Given the description of an element on the screen output the (x, y) to click on. 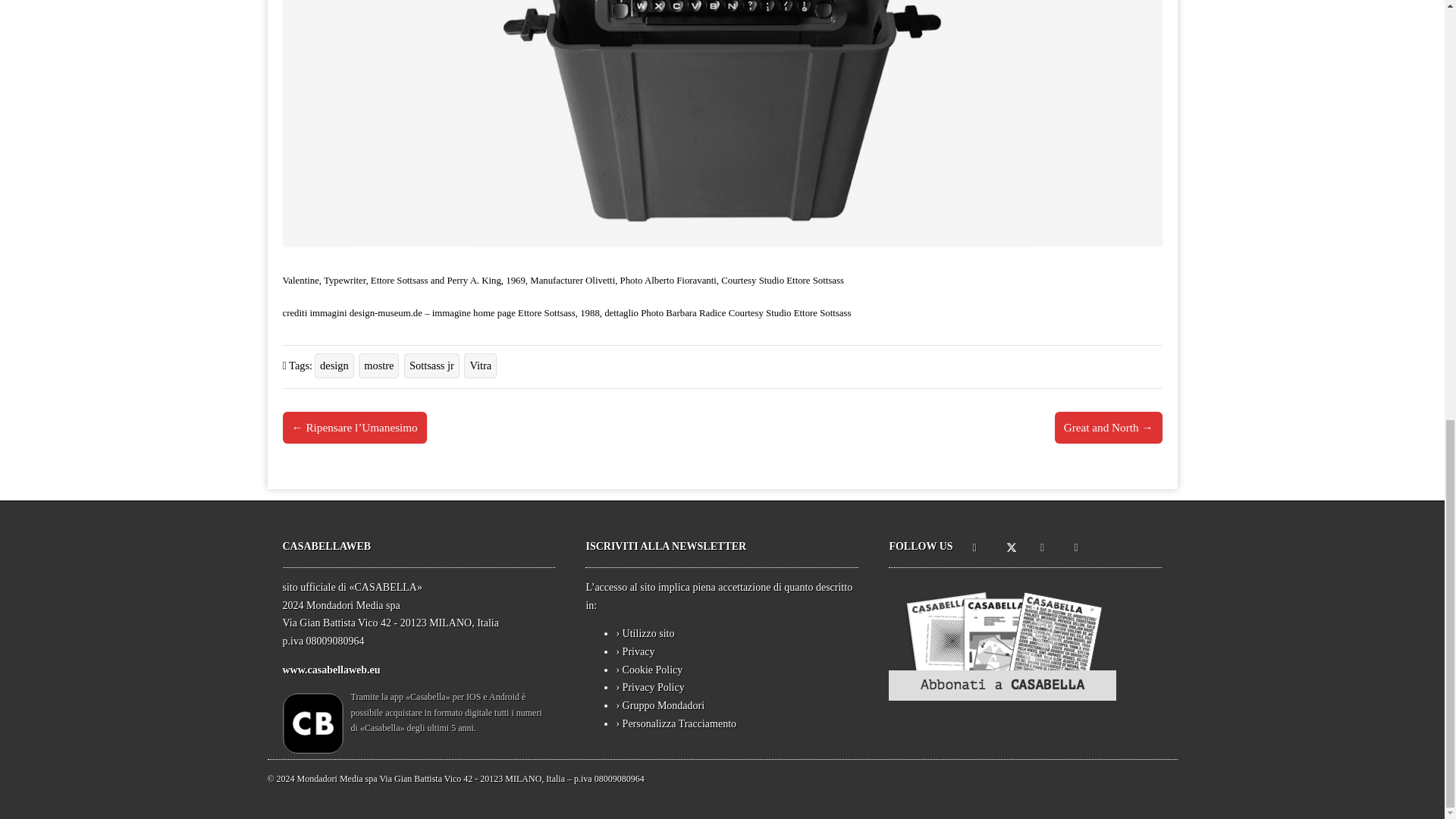
www.casabellaweb.eu (331, 669)
Vitra (480, 364)
mostre (378, 364)
design (333, 364)
Sottsass jr (432, 364)
